Given the description of an element on the screen output the (x, y) to click on. 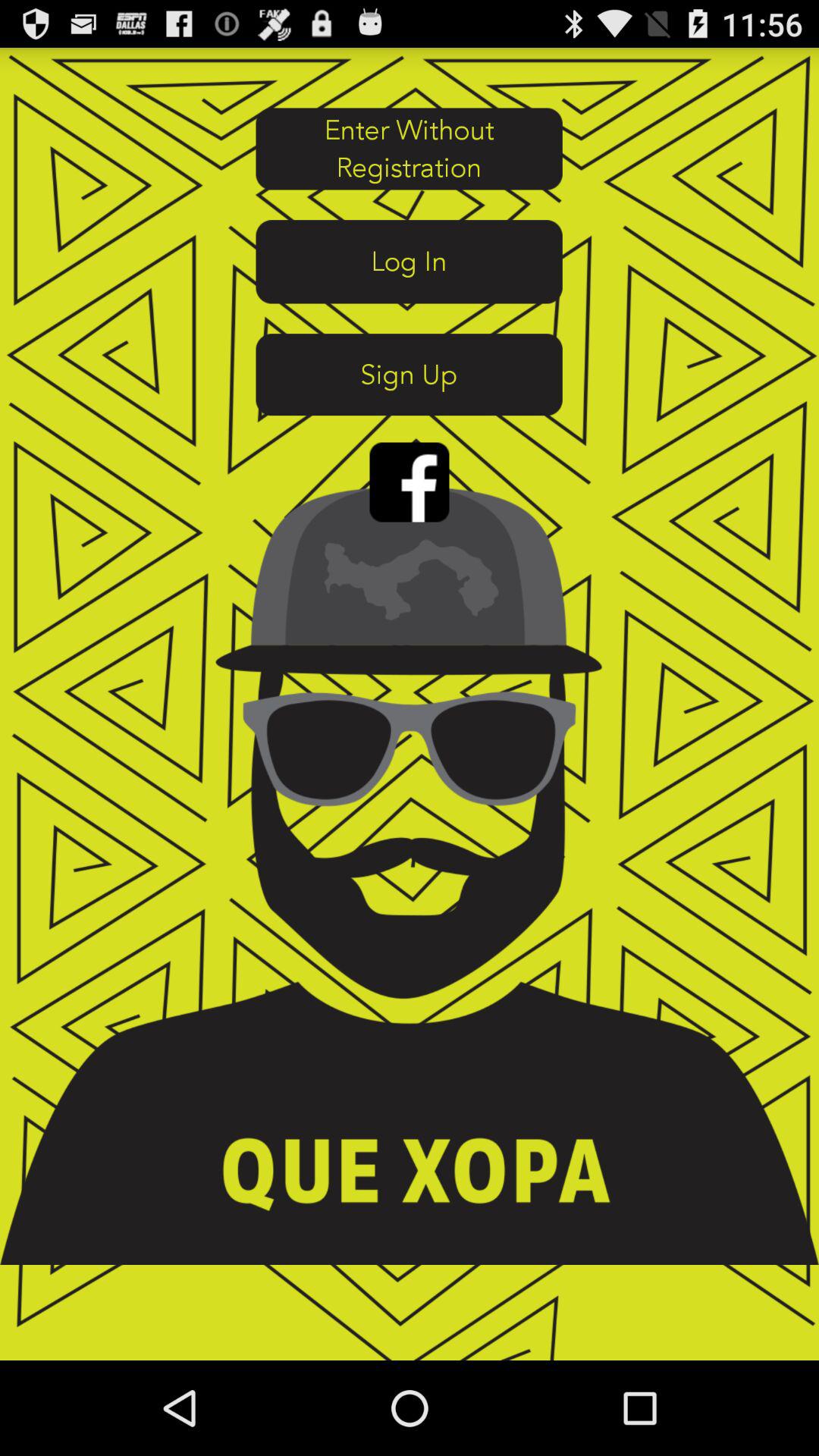
face book log in button (409, 482)
